Given the description of an element on the screen output the (x, y) to click on. 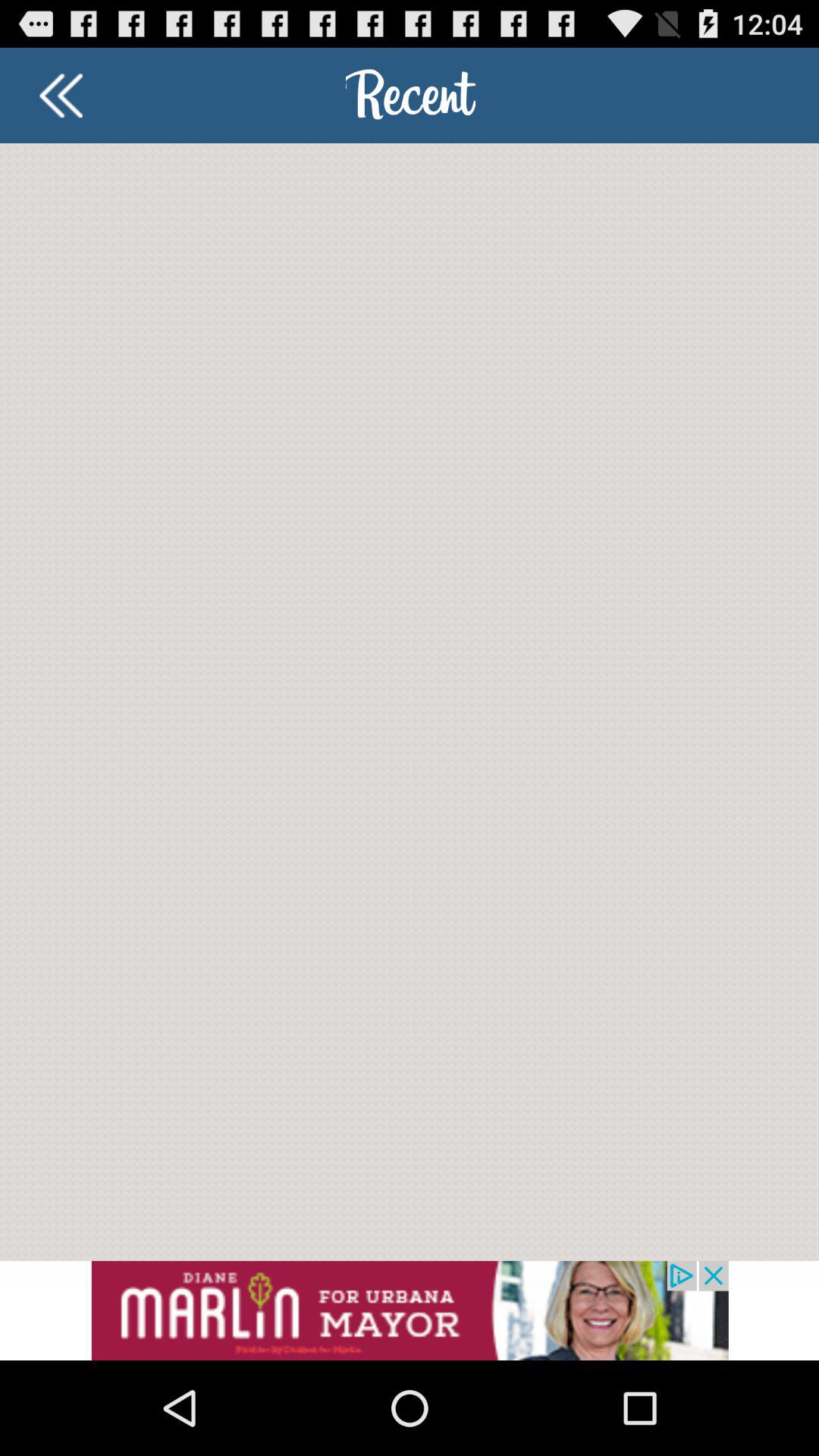
go to back (61, 95)
